Given the description of an element on the screen output the (x, y) to click on. 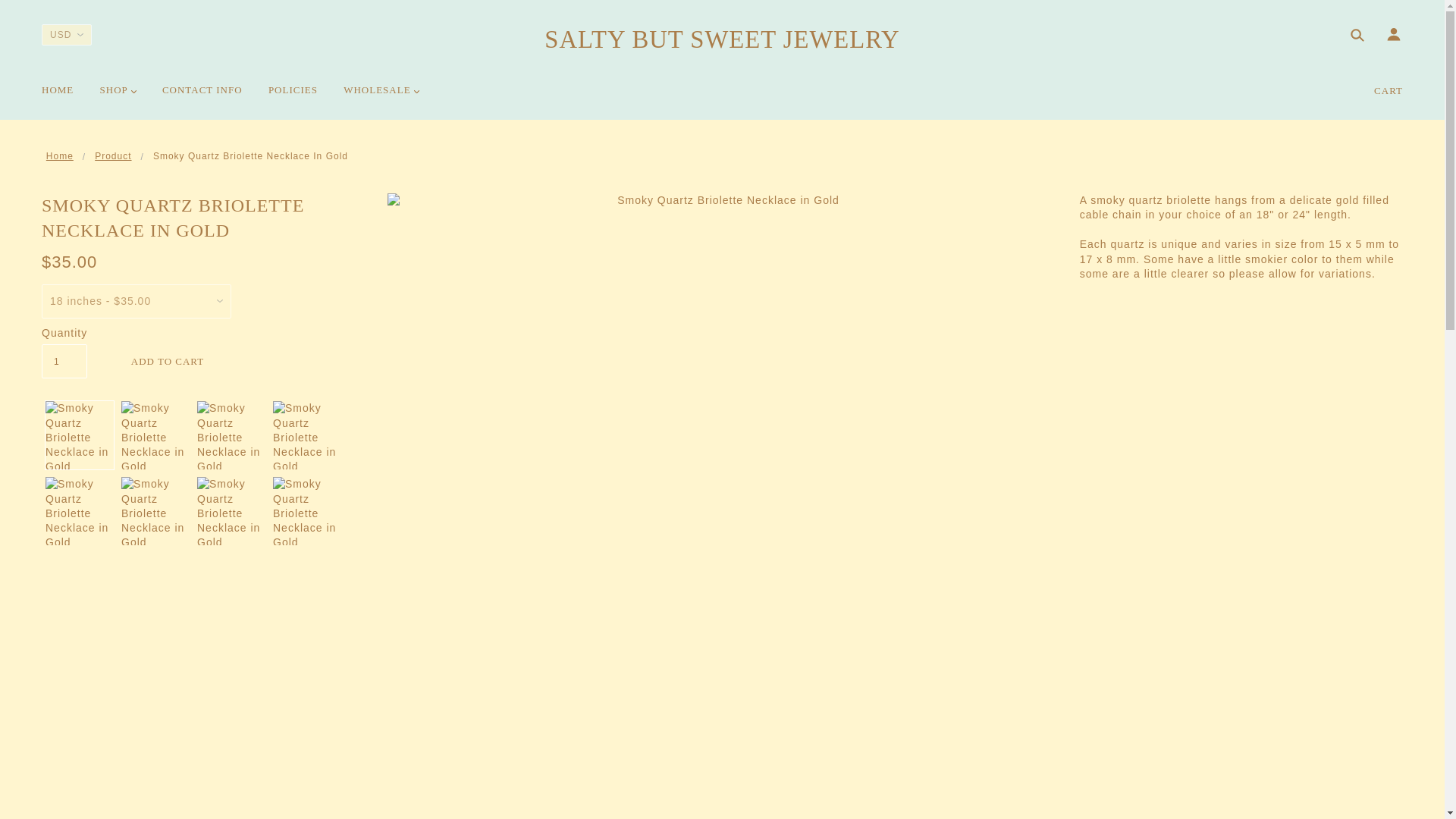
WHOLESALE (380, 95)
Add to Cart (167, 360)
SHOP (118, 95)
1 (64, 360)
HOME (57, 95)
CONTACT INFO (202, 95)
SALTY BUT SWEET JEWELRY (721, 39)
POLICIES (293, 95)
CART (1388, 90)
